Given the description of an element on the screen output the (x, y) to click on. 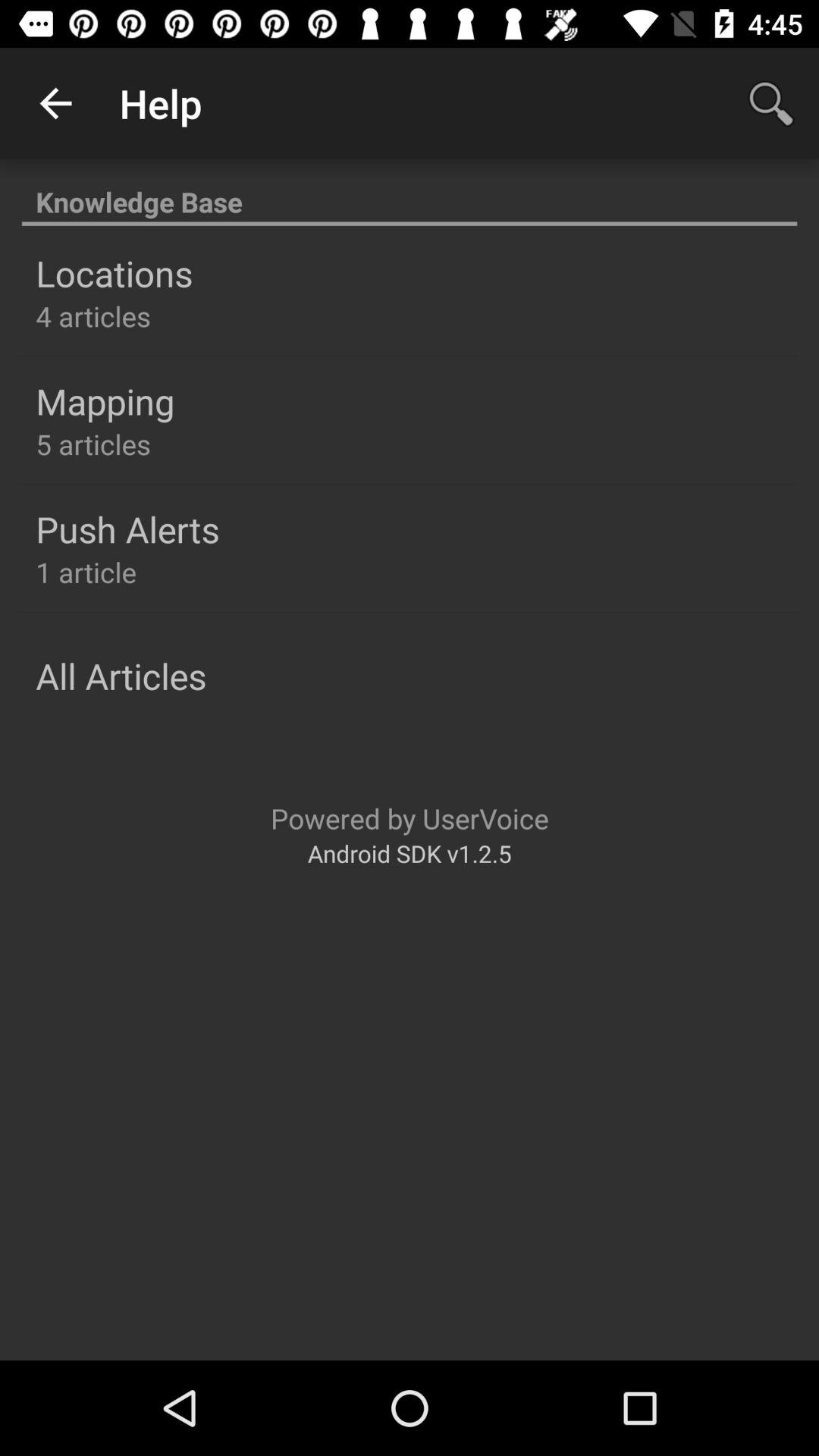
click the 1 article icon (85, 571)
